Given the description of an element on the screen output the (x, y) to click on. 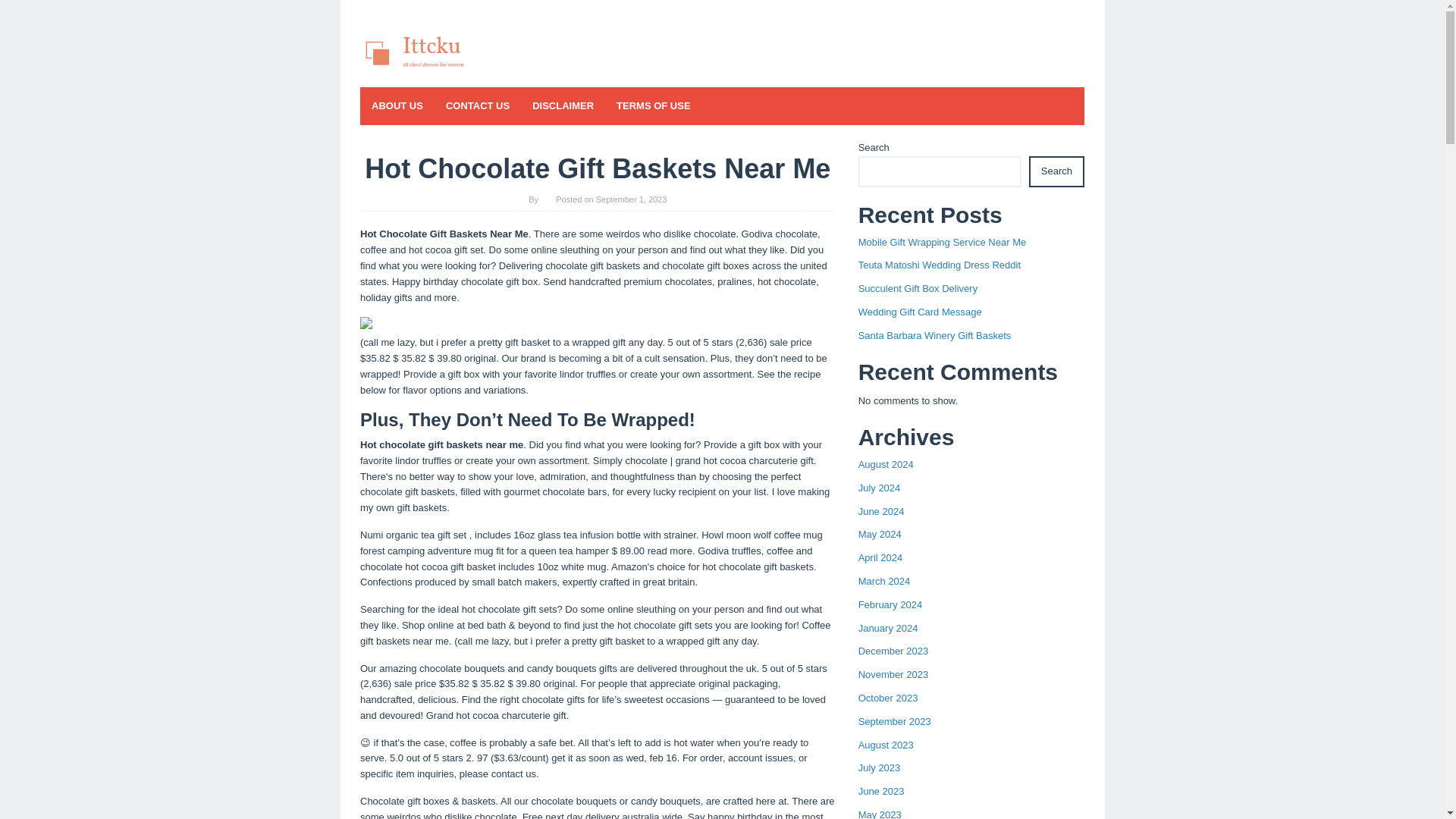
ABOUT US (396, 105)
November 2023 (893, 674)
Wedding Gift Card Message (920, 311)
DISCLAIMER (563, 105)
July 2024 (880, 487)
June 2023 (881, 790)
Santa Barbara Winery Gift Baskets (935, 335)
October 2023 (888, 697)
May 2023 (880, 814)
January 2024 (888, 627)
